Given the description of an element on the screen output the (x, y) to click on. 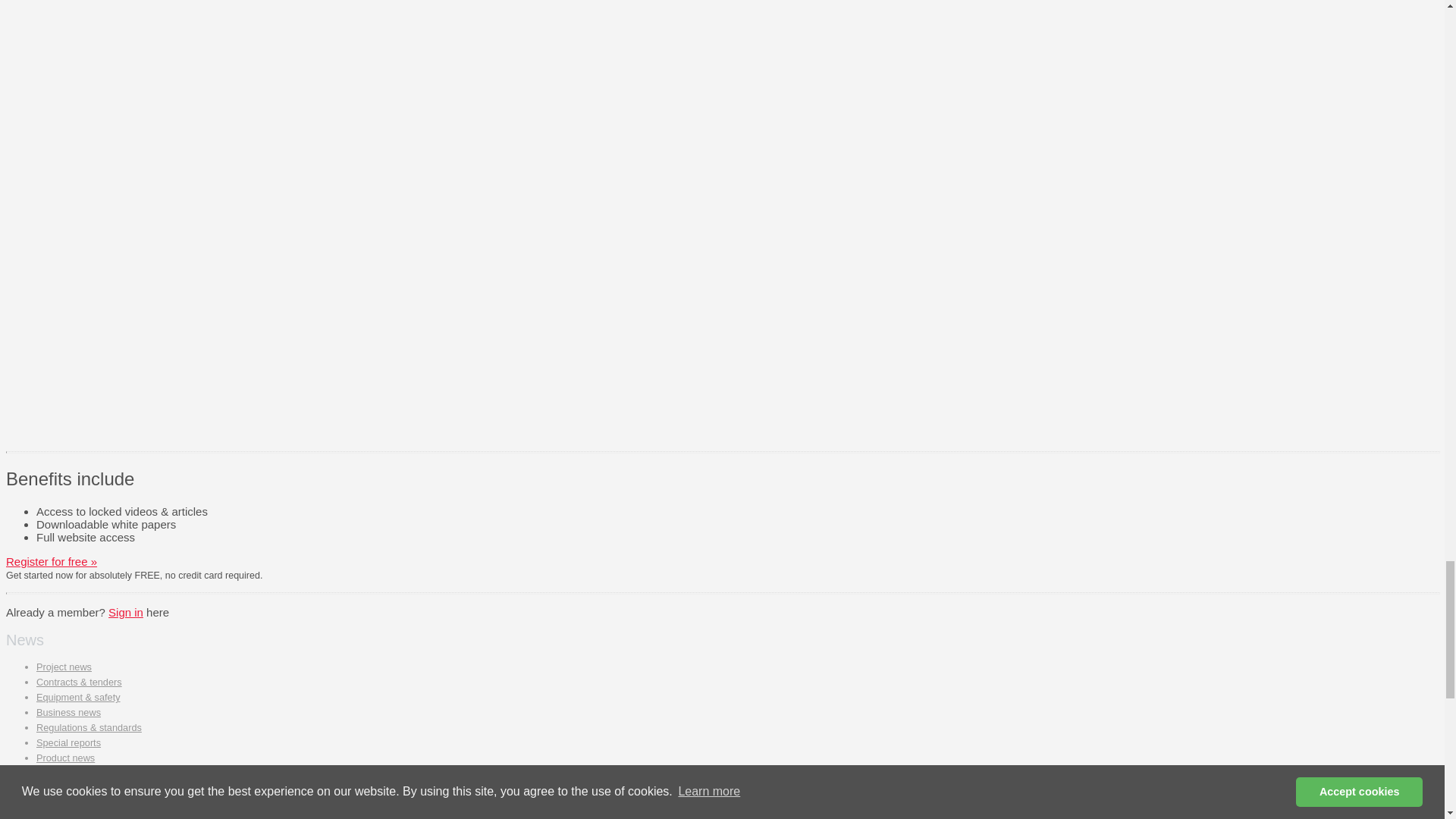
Project news (63, 666)
3rd party ad content (774, 340)
3rd party ad content (774, 132)
Sign in (124, 612)
3rd party ad content (774, 9)
